Given the description of an element on the screen output the (x, y) to click on. 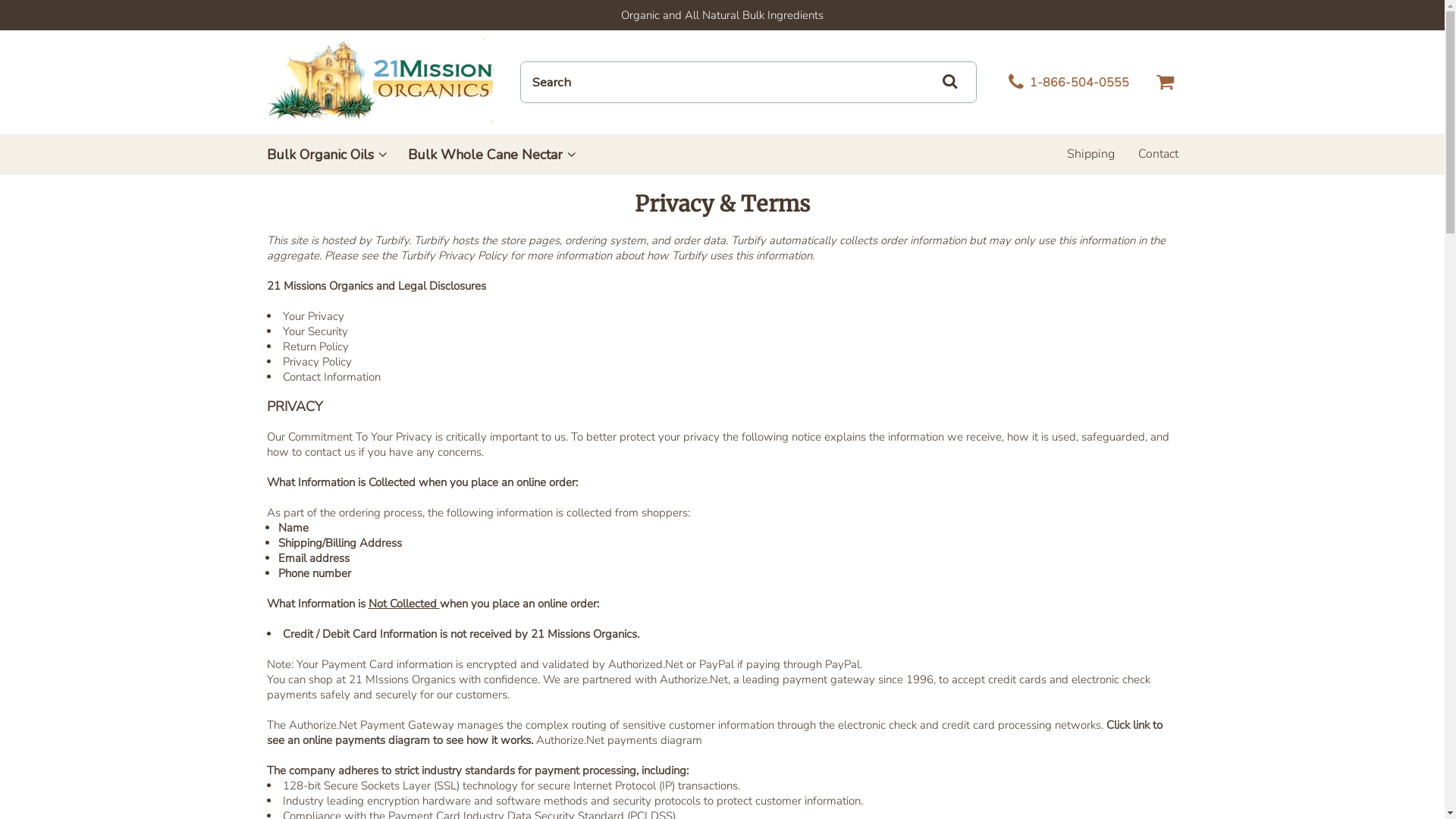
Authorize.Net payments diagram Element type: text (618, 739)
Shipping Element type: text (1090, 153)
Turbify Privacy Policy Element type: text (453, 255)
Contact Element type: text (1157, 153)
1-866-504-0555 Element type: text (1065, 82)
Authorize.Net Element type: text (693, 679)
